Given the description of an element on the screen output the (x, y) to click on. 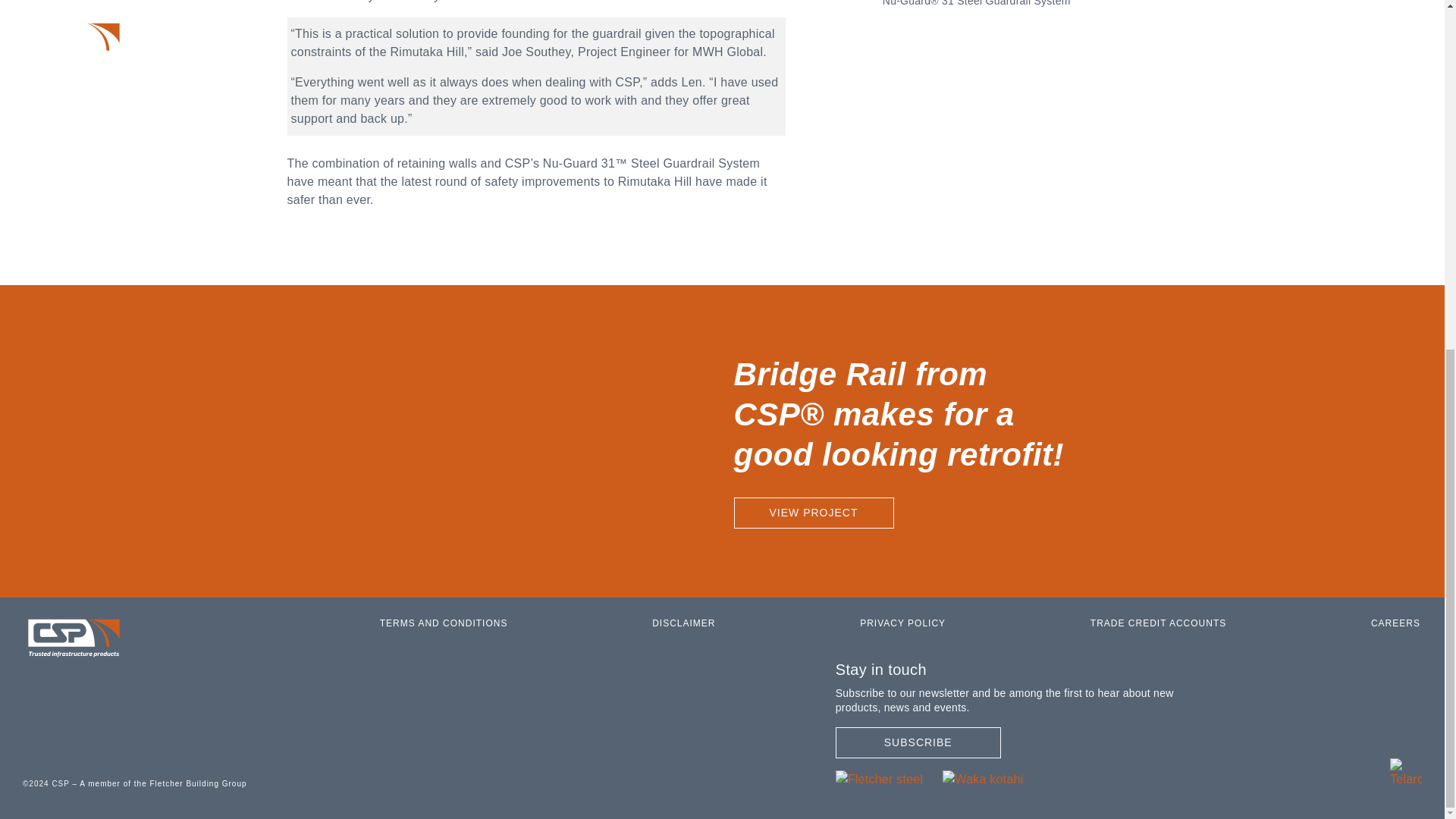
Waka Kotahi (982, 778)
Fletcher Building Group (163, 783)
CSP (74, 639)
Fletcher Building (879, 778)
CSP (1406, 771)
